Given the description of an element on the screen output the (x, y) to click on. 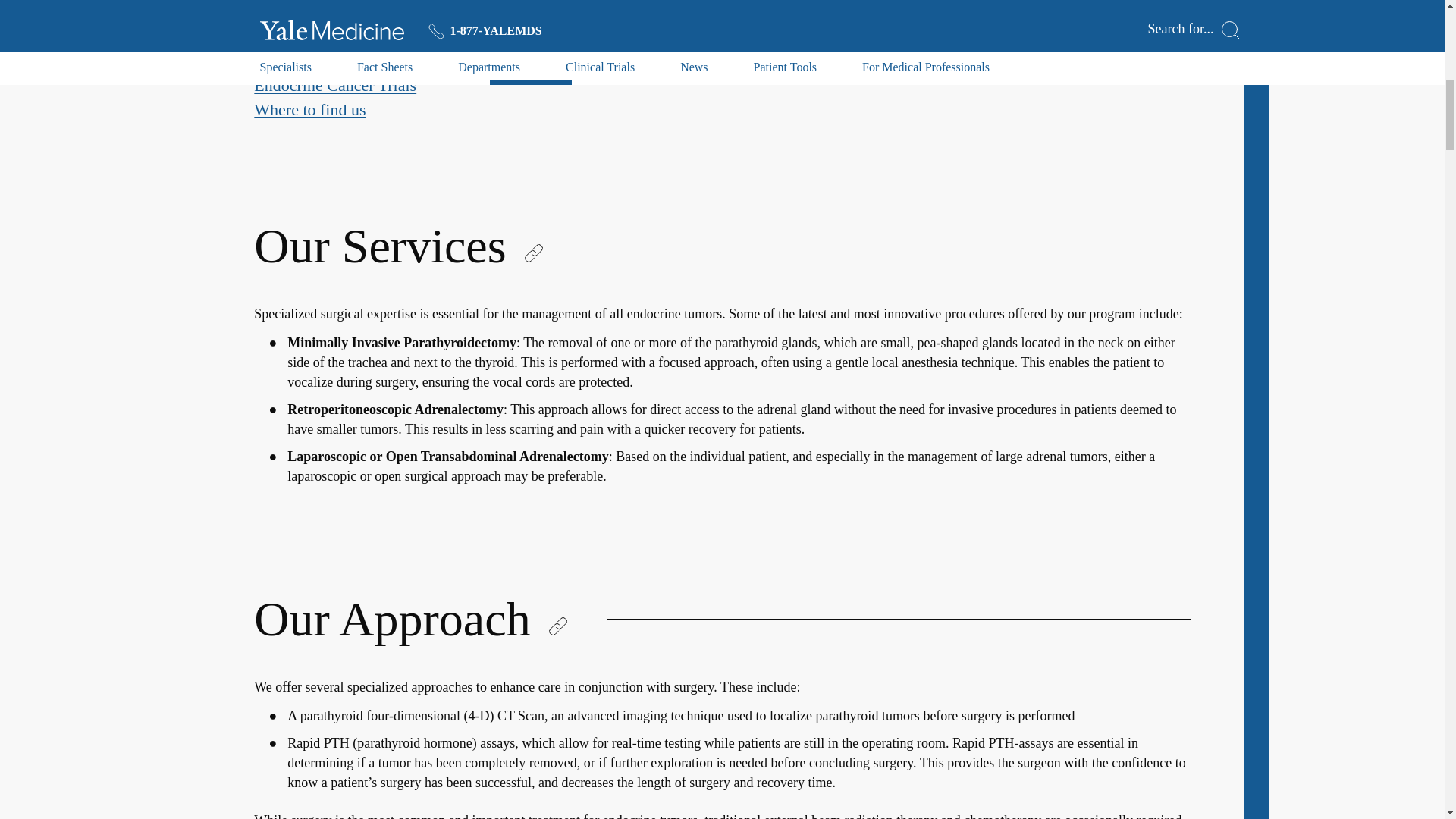
News (272, 36)
Fact Sheets (291, 12)
Where to find us (309, 108)
News from Endocrine Cancers Program (387, 60)
News (272, 36)
Where to find us (309, 108)
Endocrine Cancer Trials (334, 85)
Fact Sheets (291, 12)
News from Endocrine Cancers Program (387, 60)
Endocrine Cancer Trials (334, 85)
